Given the description of an element on the screen output the (x, y) to click on. 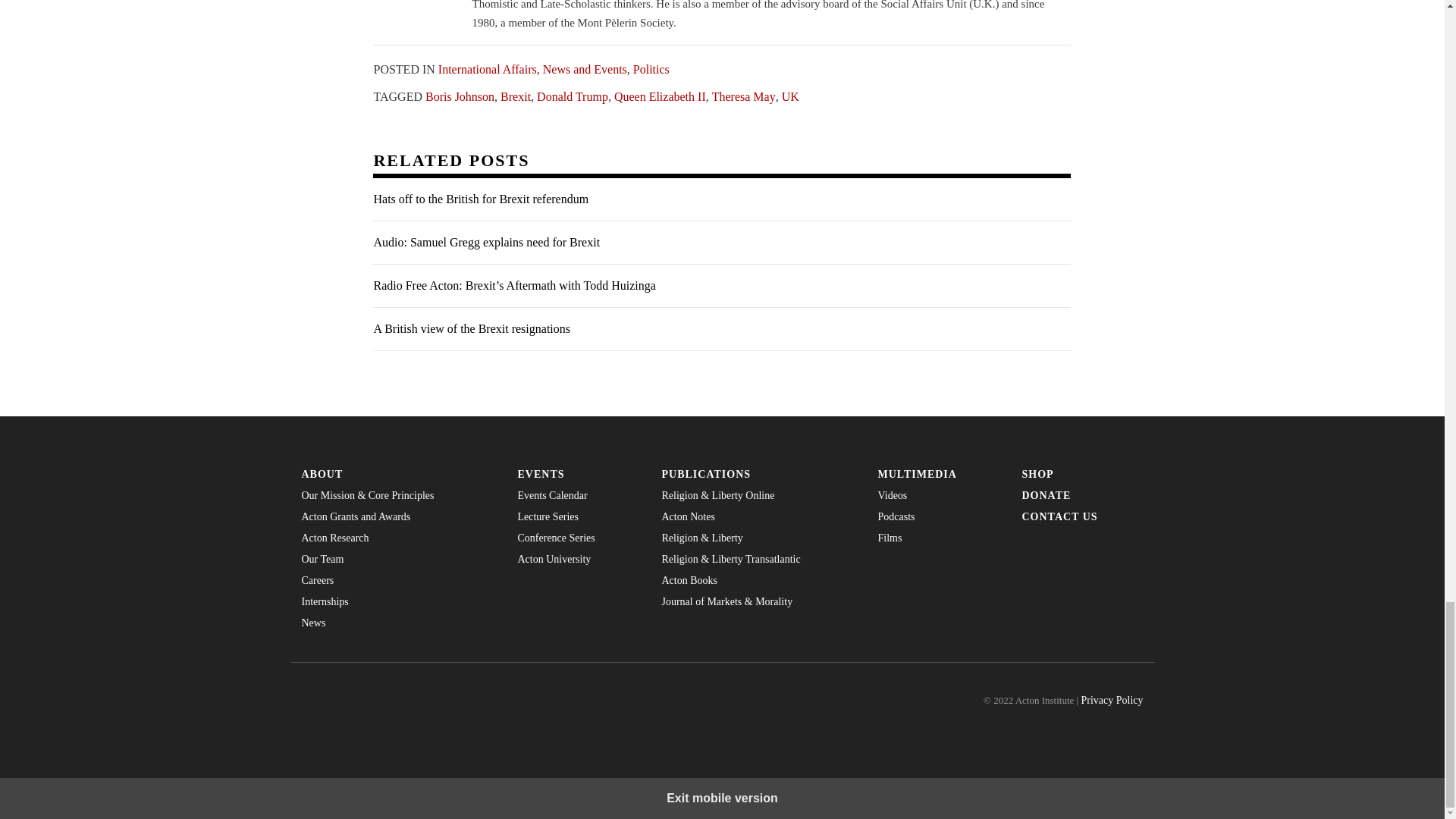
Theresa May (743, 95)
Queen Elizabeth II (660, 95)
Audio: Samuel Gregg explains need for Brexit (721, 242)
Politics (651, 68)
Boris Johnson (460, 95)
Acton Research (398, 538)
International Affairs (487, 68)
A British view of the Brexit resignations (721, 329)
Brexit (515, 95)
Hats off to the British for Brexit referendum (721, 199)
Audio: Samuel Gregg explains need for Brexit (721, 242)
Our Team (398, 559)
UK (790, 95)
Hats off to the British for Brexit referendum (721, 199)
A British view of the Brexit resignations (721, 329)
